Given the description of an element on the screen output the (x, y) to click on. 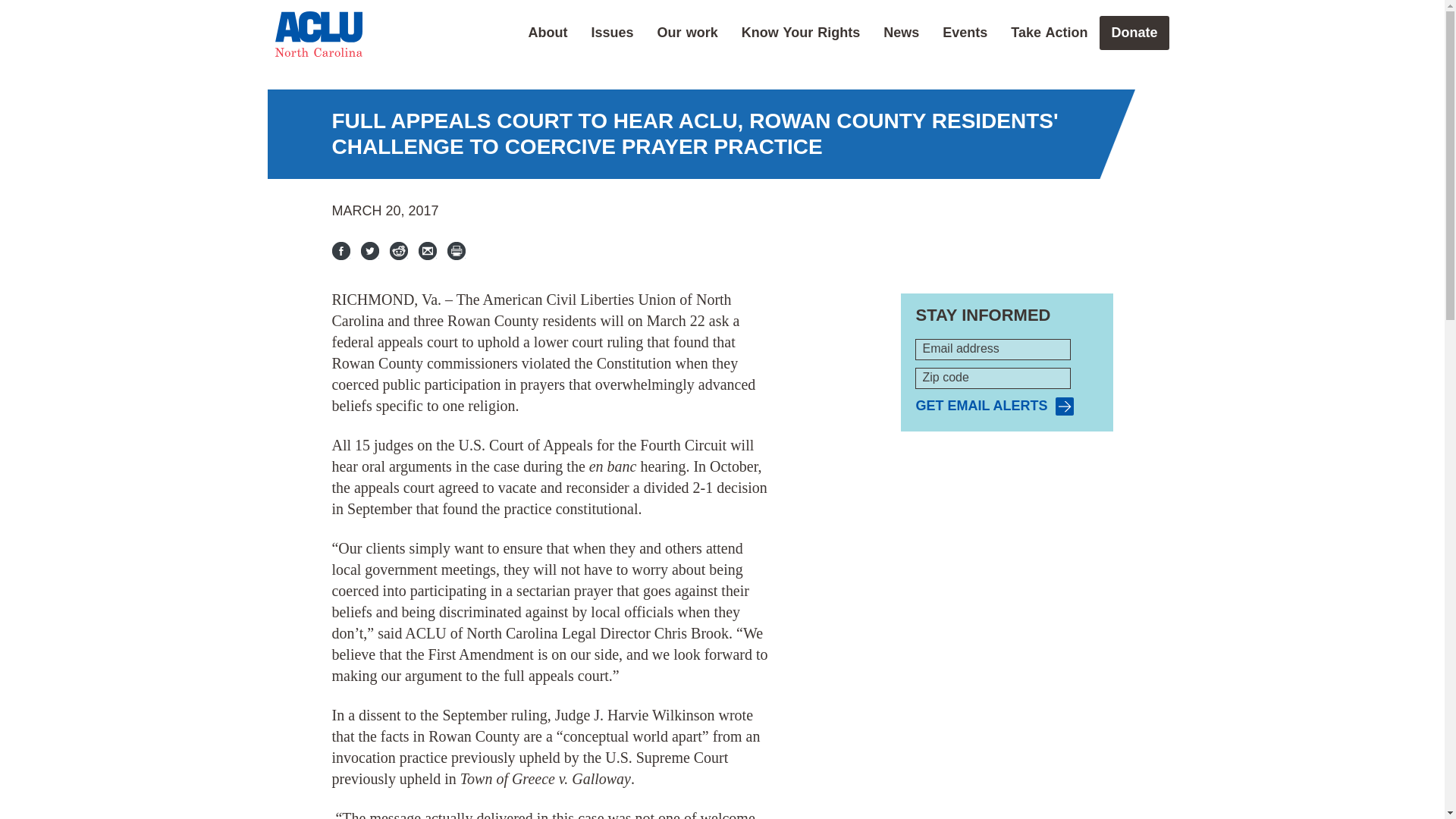
Take Action (1048, 32)
Submit this to Reddit (398, 250)
Donate (1134, 32)
Submit this to Twitter (369, 250)
Know Your Rights (801, 32)
Email this page (427, 250)
ACLU of North Carolina - logo (318, 33)
Get email alerts (994, 406)
Zip code (992, 378)
Email address (992, 349)
Submit this to Facebook (340, 250)
Events (964, 32)
